Given the description of an element on the screen output the (x, y) to click on. 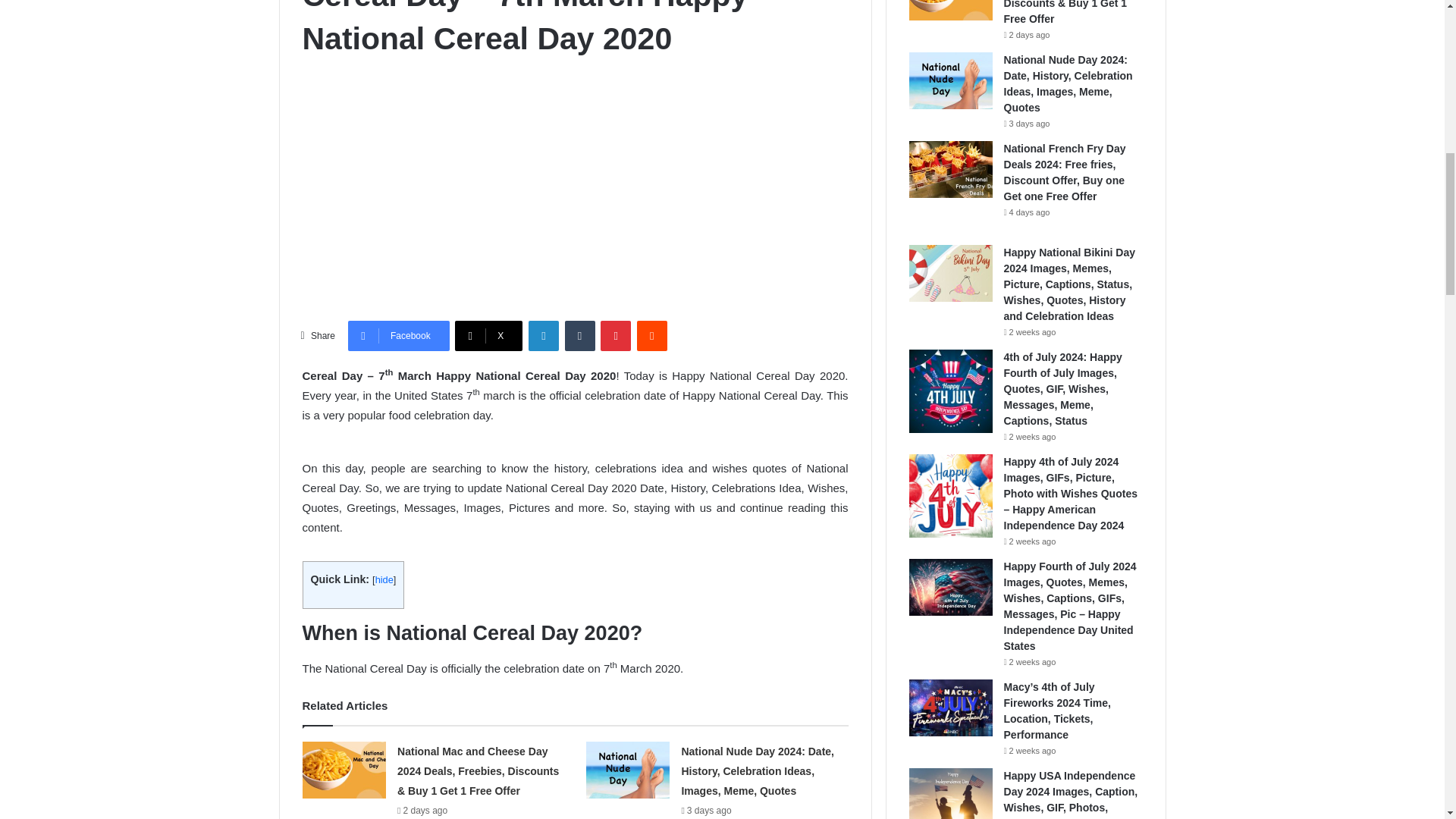
Facebook (398, 336)
LinkedIn (543, 336)
Tumblr (579, 336)
hide (384, 579)
X (488, 336)
Pinterest (614, 336)
Reddit (651, 336)
LinkedIn (543, 336)
Facebook (398, 336)
Tumblr (579, 336)
X (488, 336)
Pinterest (614, 336)
Advertisement (574, 182)
Reddit (651, 336)
